Given the description of an element on the screen output the (x, y) to click on. 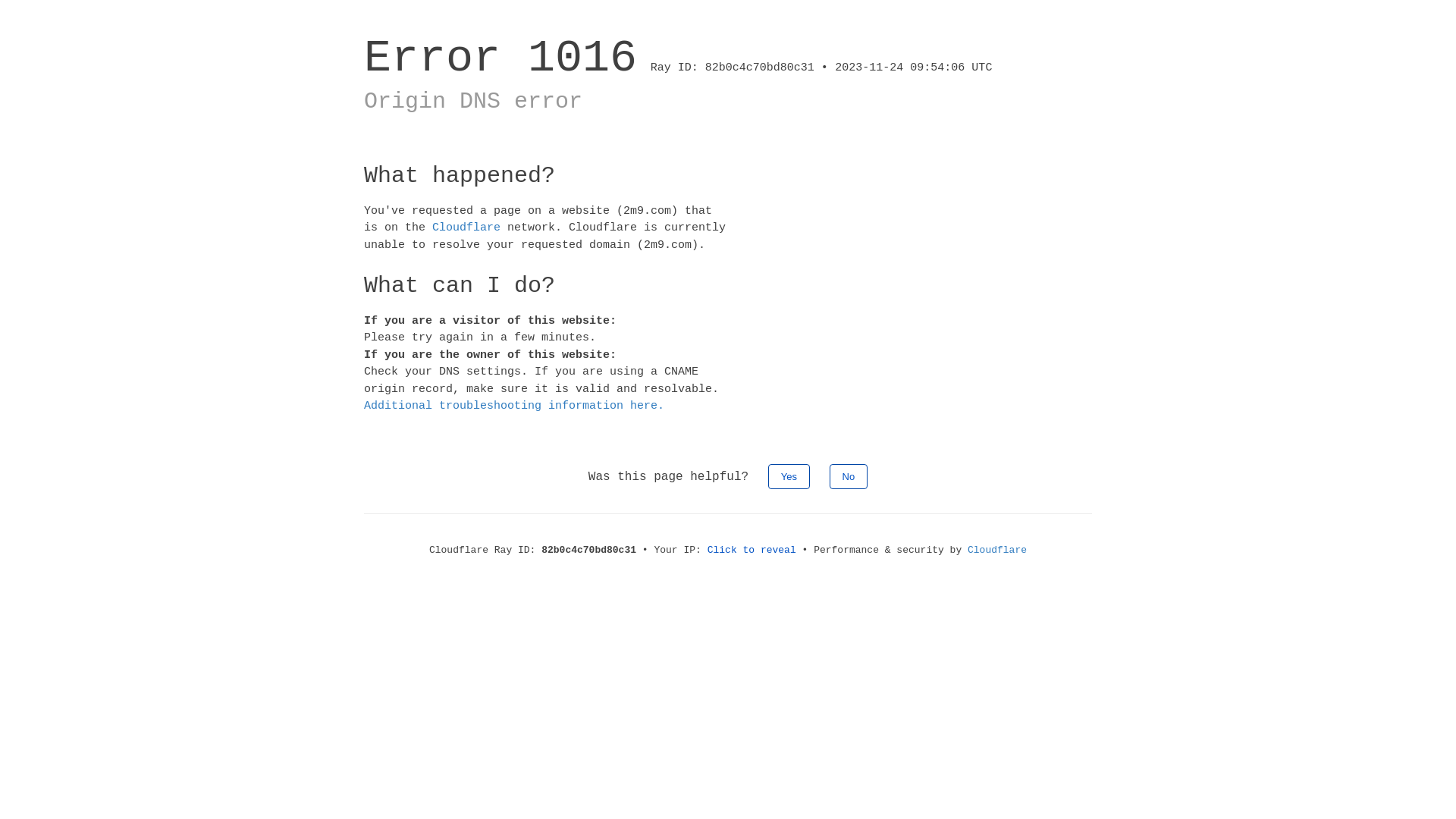
No Element type: text (848, 476)
Cloudflare Element type: text (466, 227)
Additional troubleshooting information here. Element type: text (514, 405)
Click to reveal Element type: text (751, 549)
Yes Element type: text (788, 476)
Cloudflare Element type: text (996, 549)
